Given the description of an element on the screen output the (x, y) to click on. 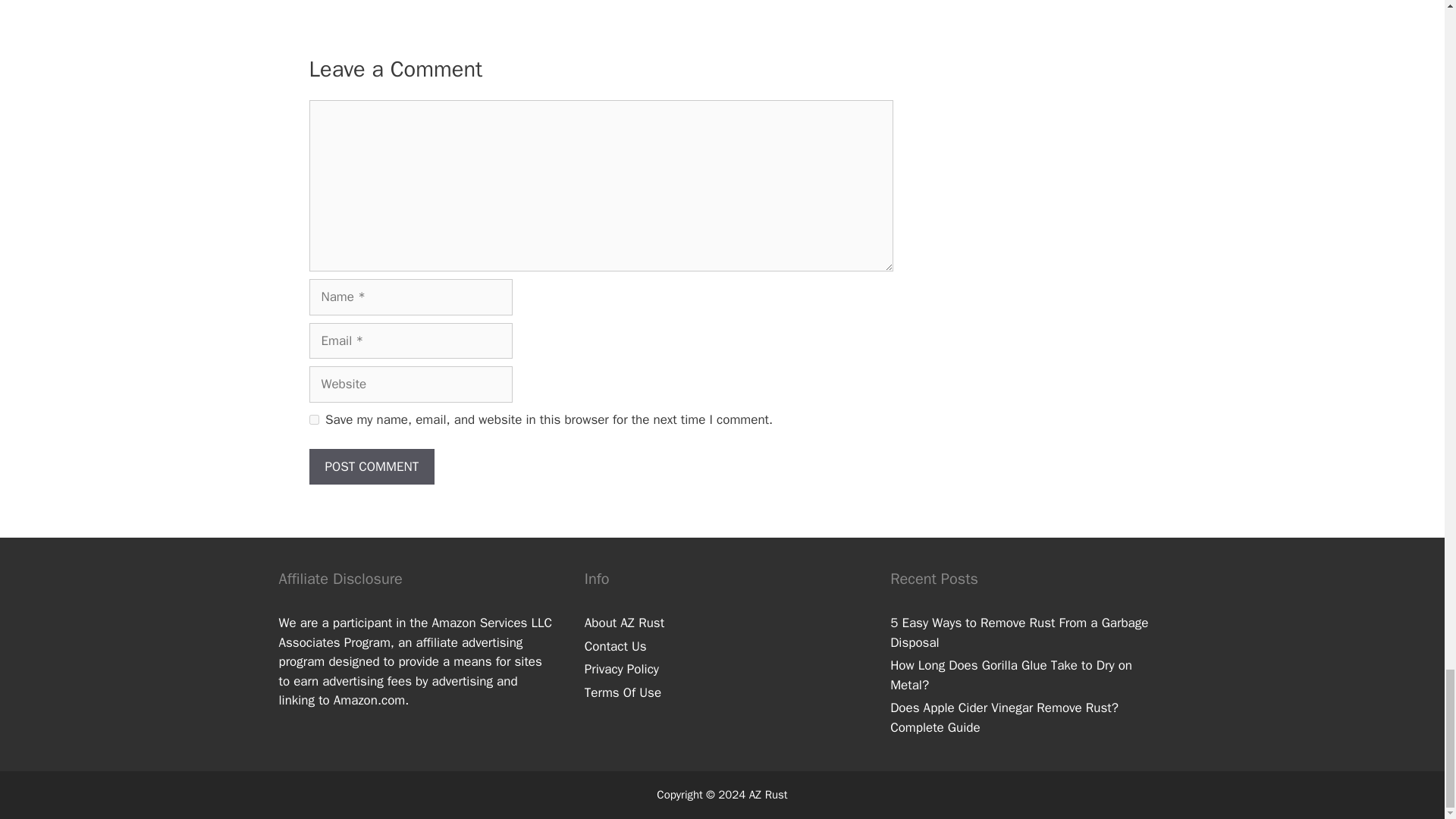
Post Comment (371, 466)
yes (313, 419)
